Given the description of an element on the screen output the (x, y) to click on. 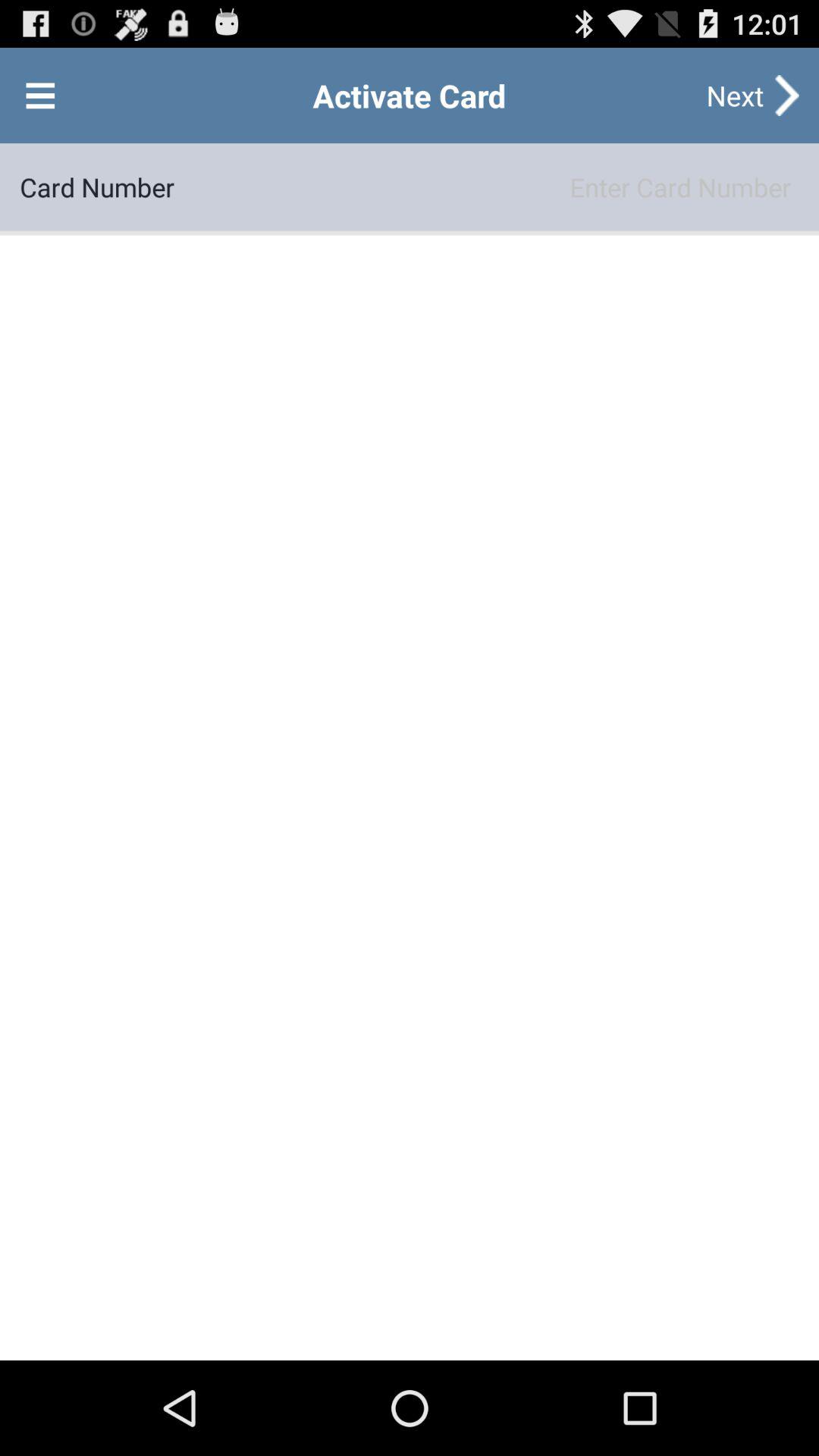
turn off app to the left of activate card app (39, 95)
